Given the description of an element on the screen output the (x, y) to click on. 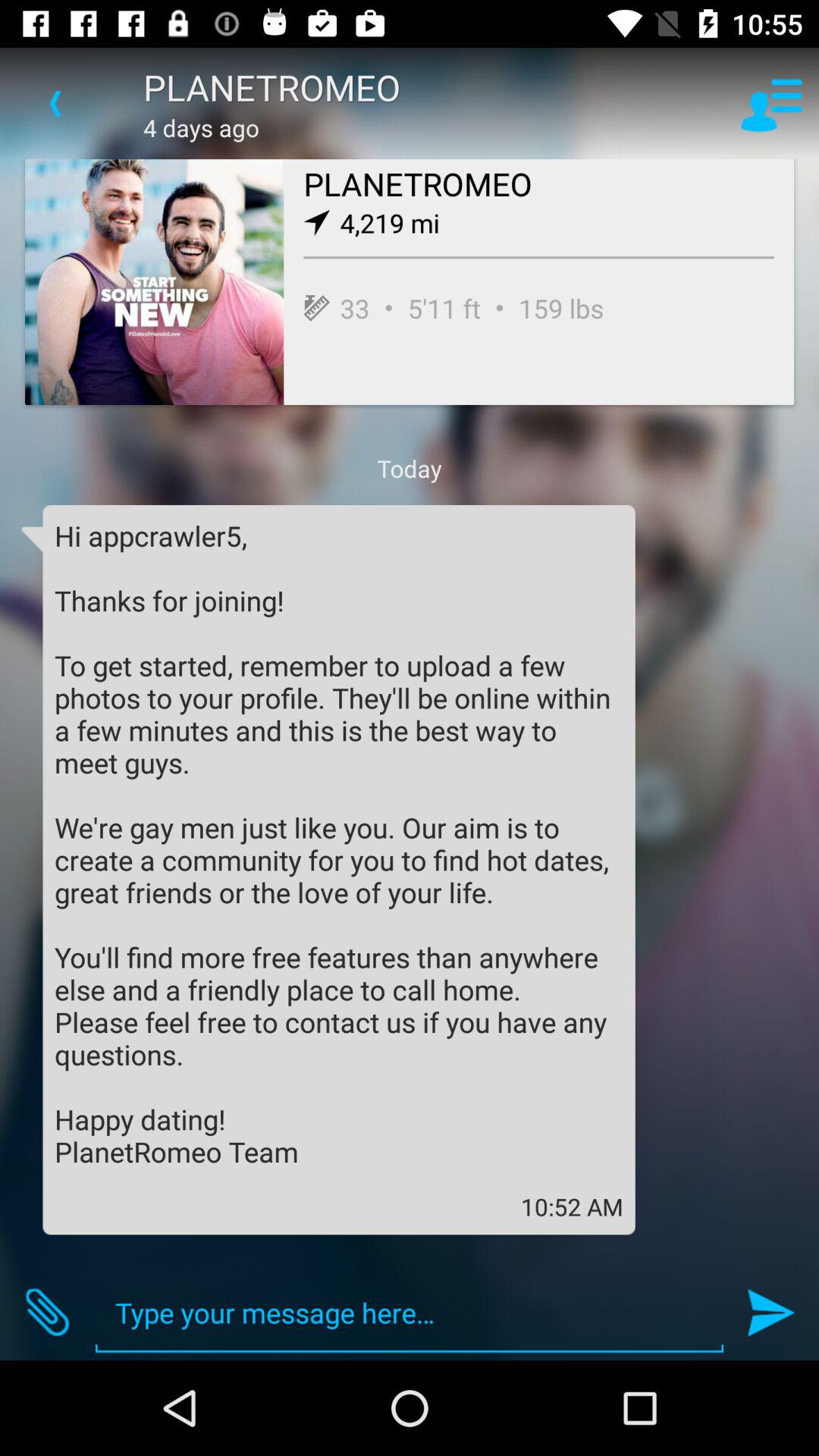
tap icon below the today icon (338, 843)
